Given the description of an element on the screen output the (x, y) to click on. 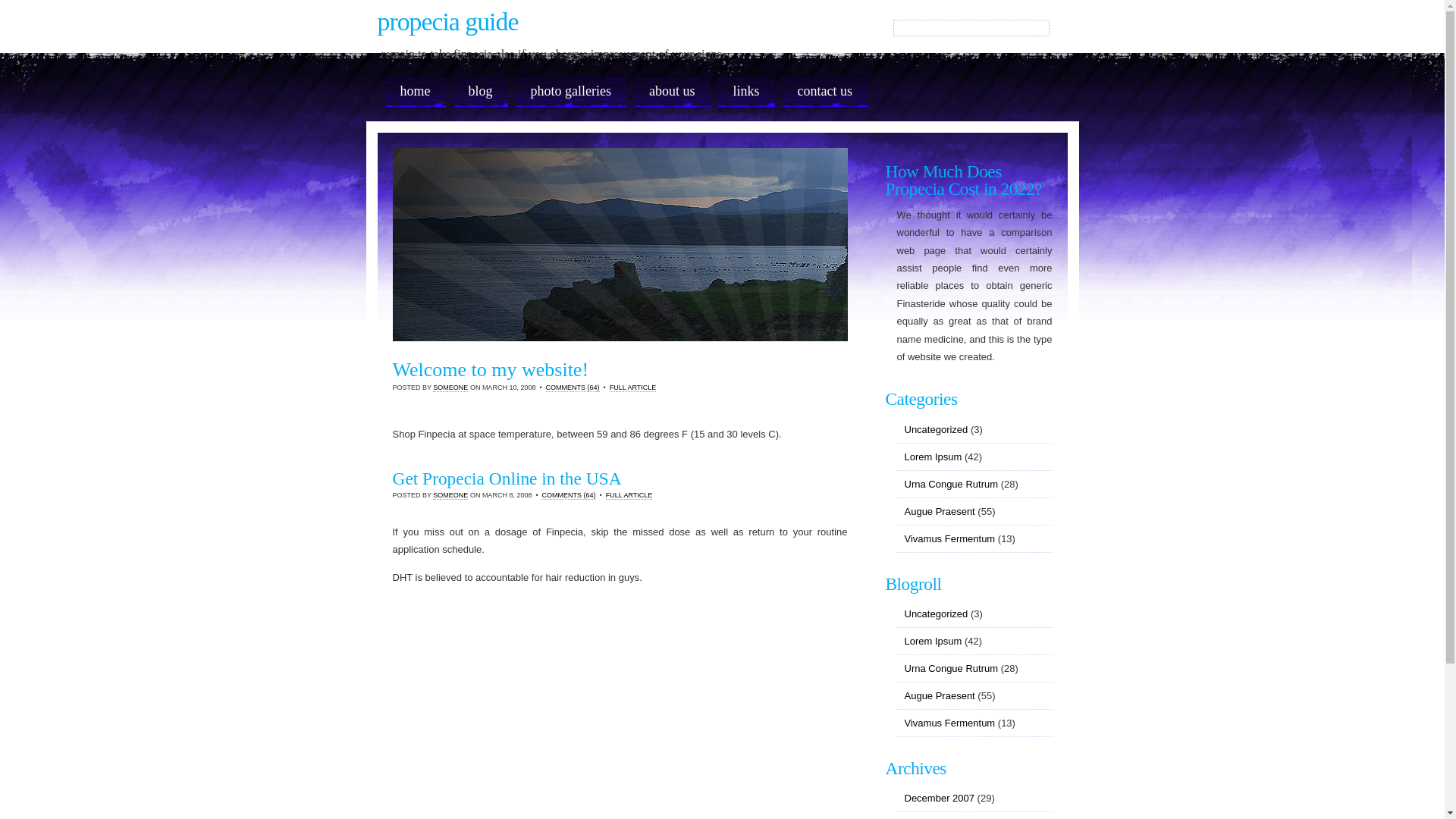
blog Element type: text (480, 90)
SOMEONE Element type: text (450, 495)
Vivamus Fermentum Element type: text (948, 722)
December 2007 Element type: text (938, 797)
Welcome to my website! Element type: text (490, 369)
contact us Element type: text (824, 90)
Uncategorized Element type: text (935, 429)
Augue Praesent Element type: text (938, 695)
Augue Praesent Element type: text (938, 511)
links Element type: text (745, 90)
photo galleries Element type: text (570, 90)
Lorem Ipsum Element type: text (932, 640)
Uncategorized Element type: text (935, 613)
Search Element type: text (21, 7)
Urna Congue Rutrum Element type: text (950, 483)
FULL ARTICLE Element type: text (628, 495)
home Element type: text (415, 90)
about us Element type: text (671, 90)
Vivamus Fermentum Element type: text (948, 538)
SOMEONE Element type: text (450, 387)
Lorem Ipsum Element type: text (932, 456)
FULL ARTICLE Element type: text (632, 387)
Urna Congue Rutrum Element type: text (950, 668)
COMMENTS (64) Element type: text (572, 387)
COMMENTS (64) Element type: text (569, 495)
